Given the description of an element on the screen output the (x, y) to click on. 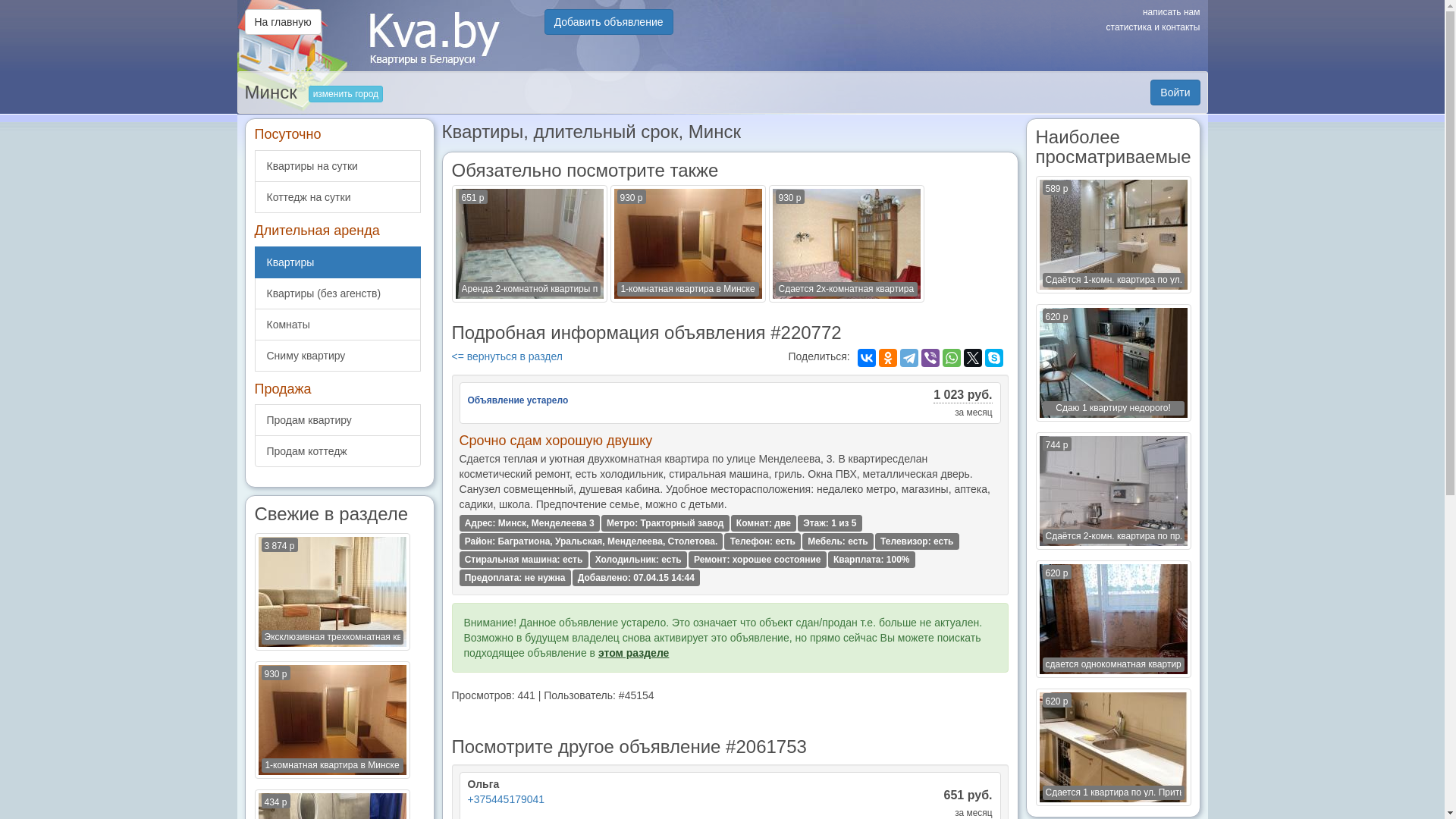
WhatsApp Element type: hover (951, 357)
Telegram Element type: hover (909, 357)
Skype Element type: hover (994, 357)
Twitter Element type: hover (972, 357)
Viber Element type: hover (930, 357)
+375445179041 Element type: text (505, 799)
